Given the description of an element on the screen output the (x, y) to click on. 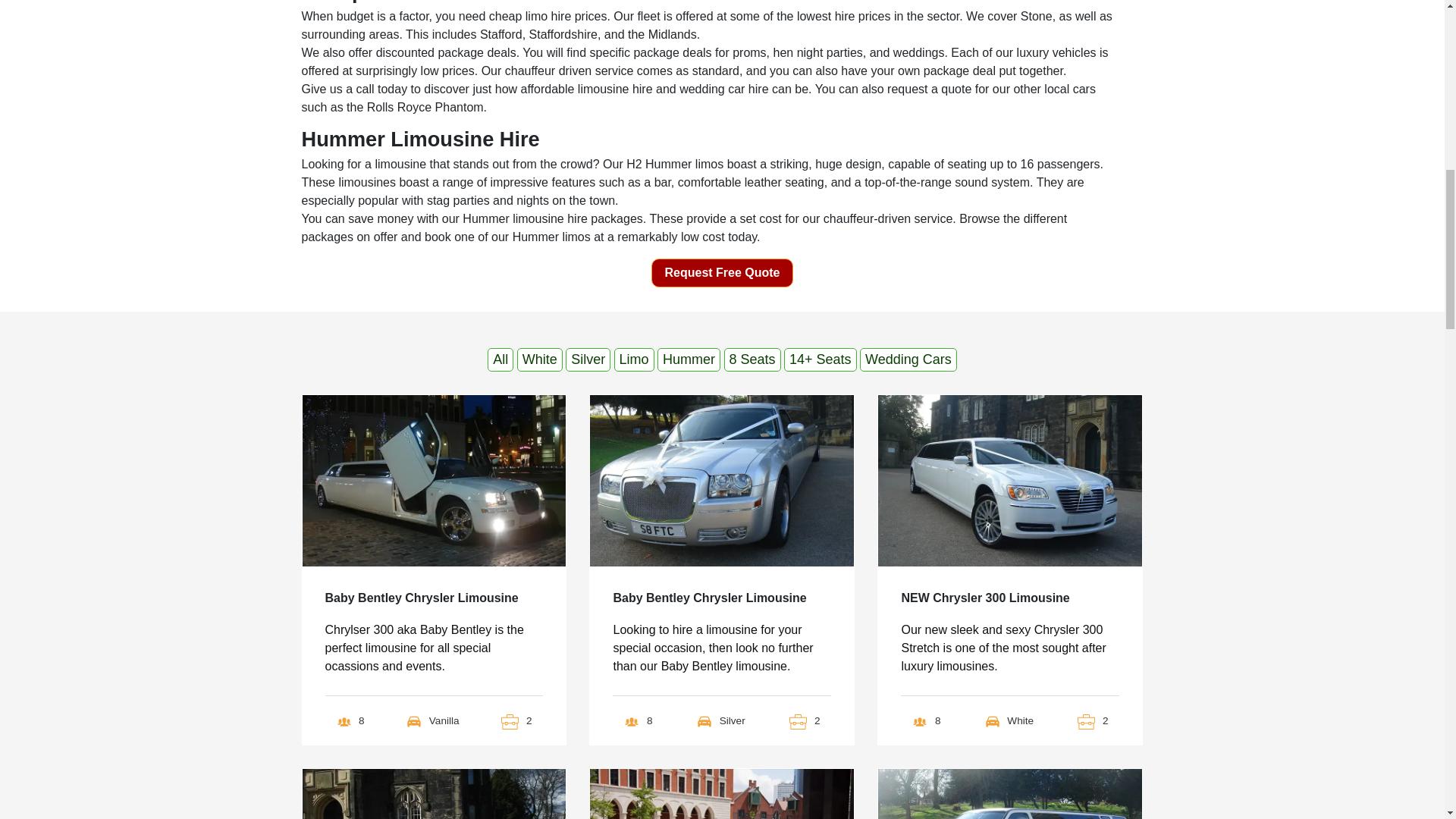
Silver (588, 359)
White (539, 359)
Hummer (689, 359)
All (500, 359)
Wedding Cars (908, 359)
8 Seats (751, 359)
Baby Bentley Chrysler Limousine (709, 601)
Request Free Quote (721, 272)
Limo (633, 359)
Baby Bentley Chrysler Limousine (421, 601)
NEW Chrysler 300 Limousine (984, 601)
